Given the description of an element on the screen output the (x, y) to click on. 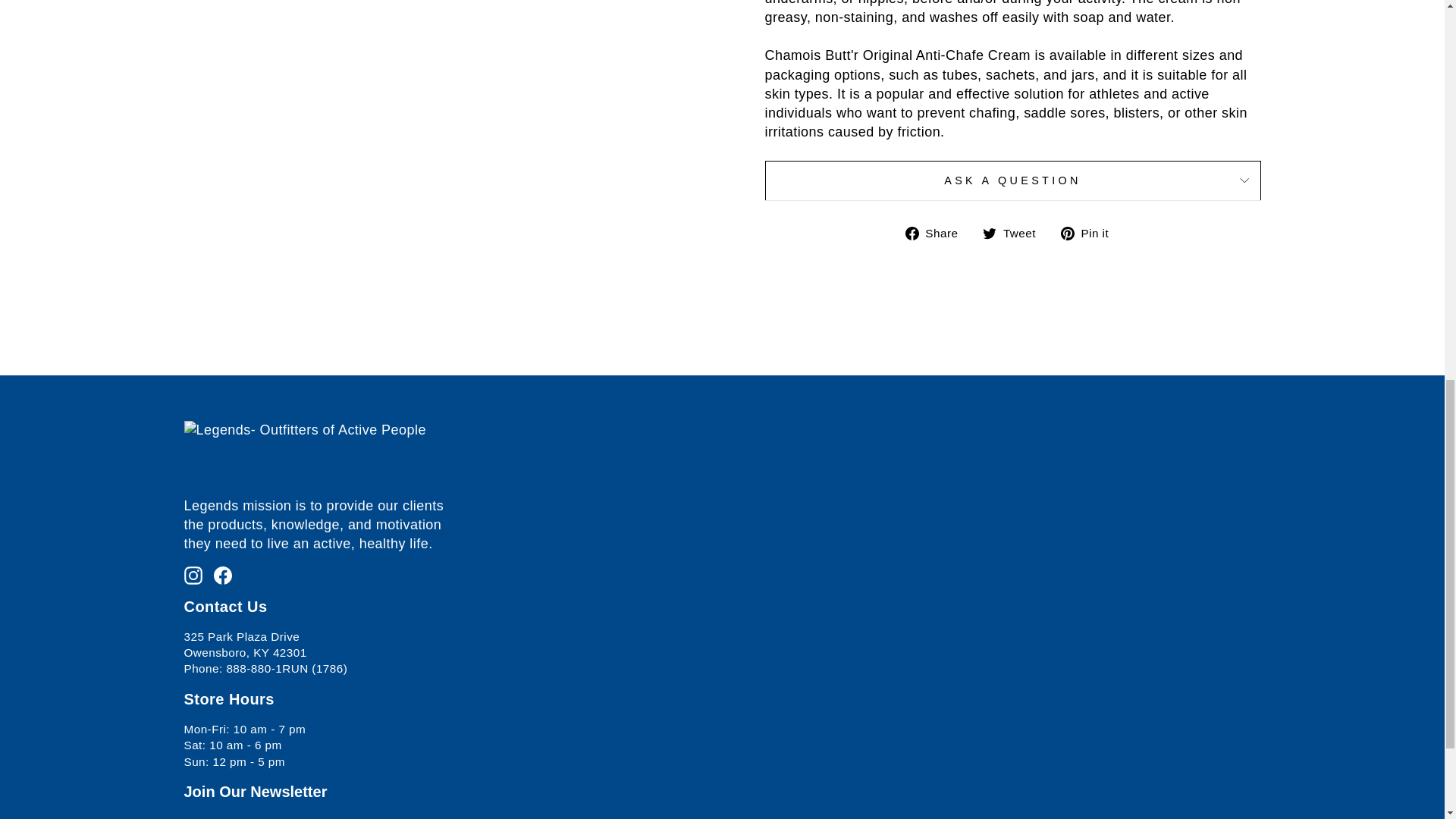
Legends- Outfitters of Active People on Instagram (192, 574)
Pin on Pinterest (1090, 232)
Share on Facebook (937, 232)
Legends- Outfitters of Active People on Facebook (222, 574)
Tweet on Twitter (1014, 232)
